Given the description of an element on the screen output the (x, y) to click on. 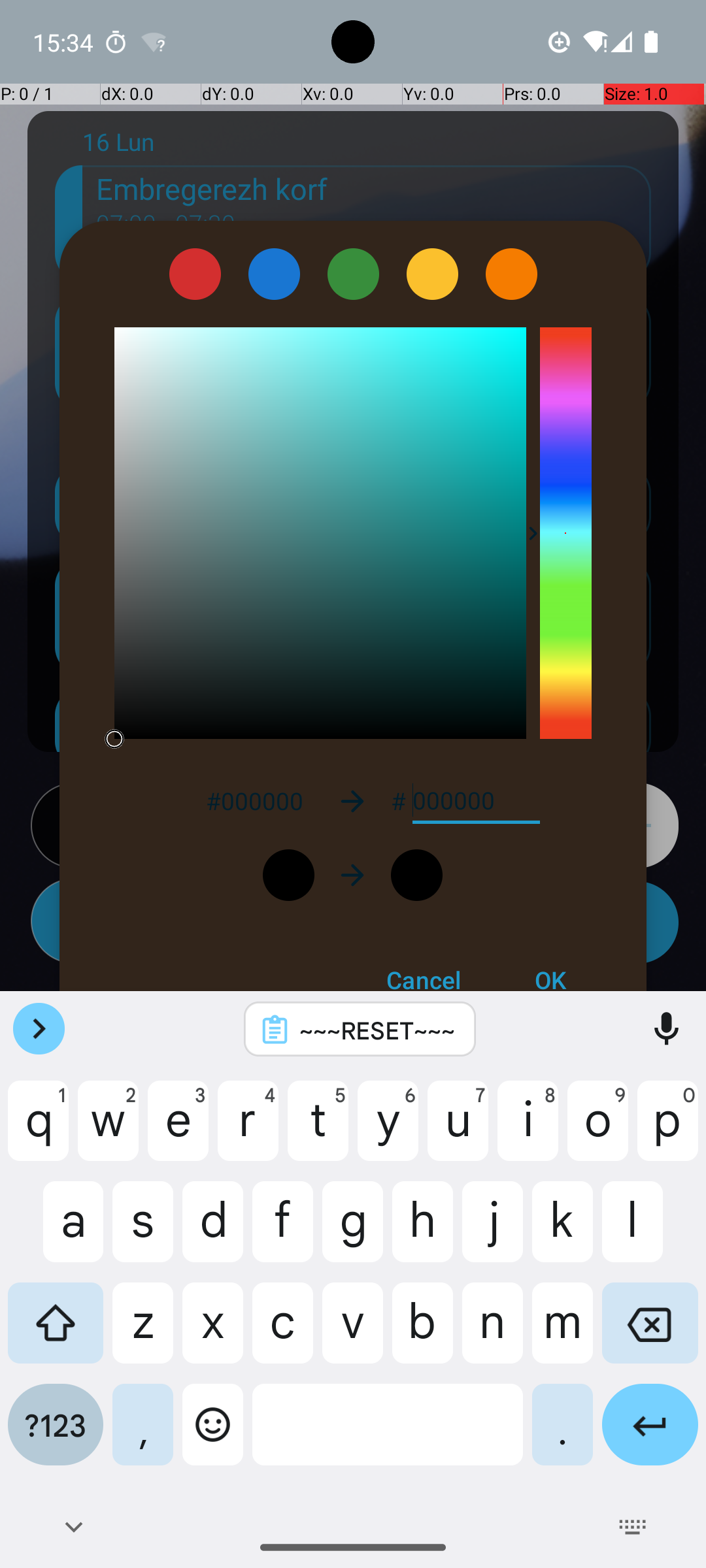
#000000 Element type: android.widget.TextView (254, 800)
000000 Element type: android.widget.EditText (475, 800)
